Given the description of an element on the screen output the (x, y) to click on. 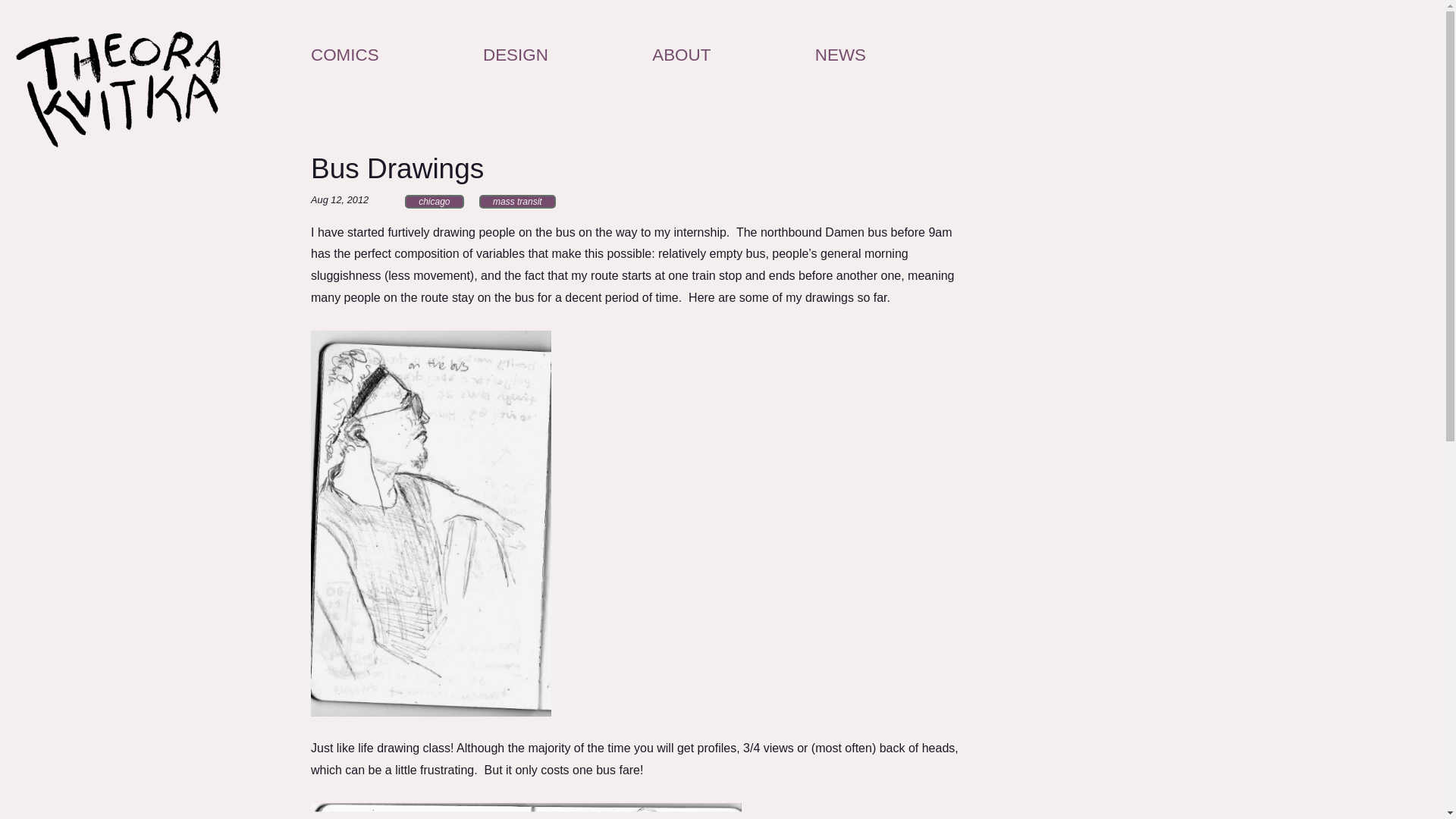
chicago (433, 201)
ABOUT (681, 54)
mass transit (517, 201)
DESIGN (515, 54)
NEWS (840, 54)
COMICS (344, 54)
